Given the description of an element on the screen output the (x, y) to click on. 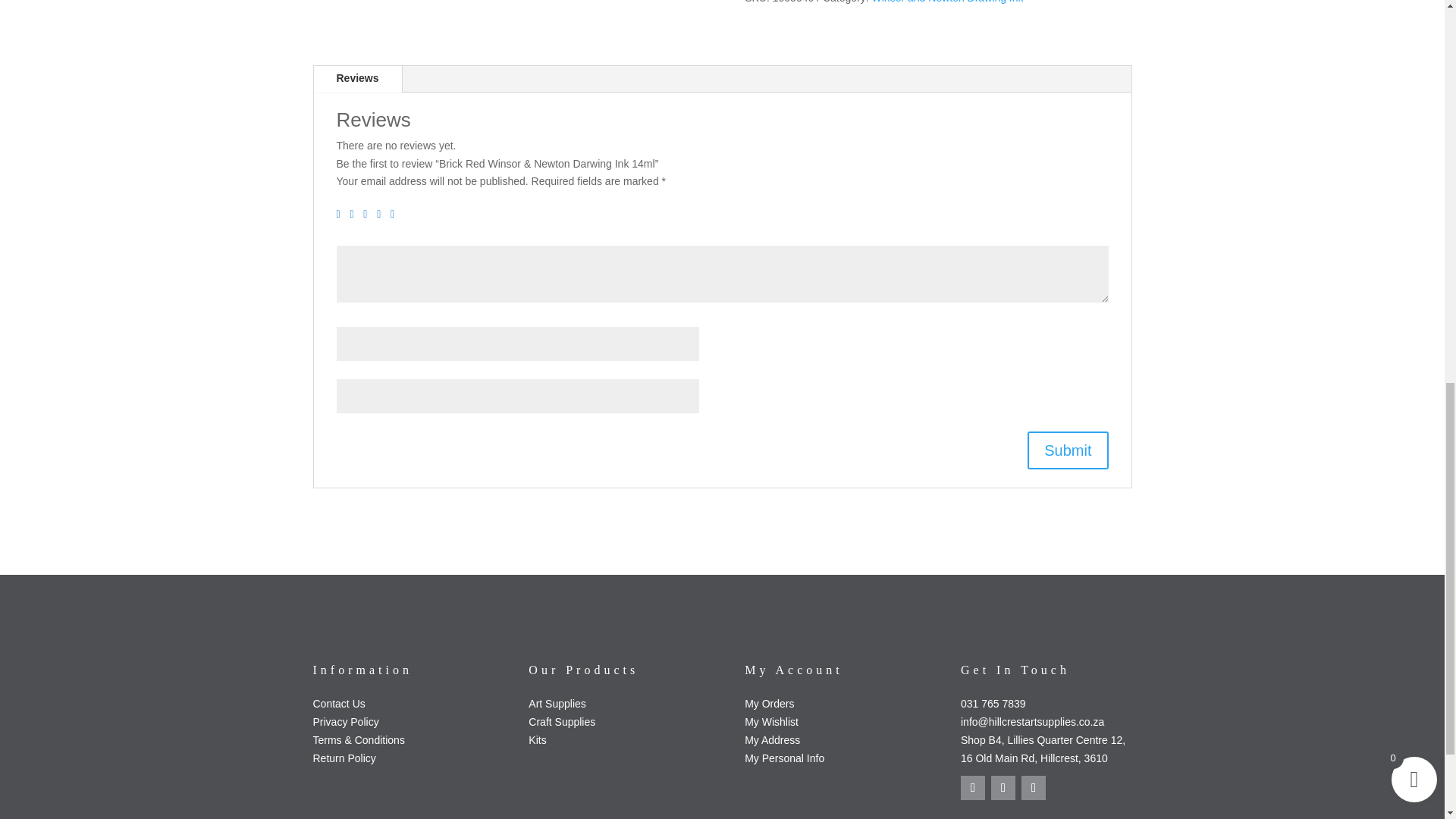
1 (341, 214)
2 (354, 214)
Reviews (357, 79)
Follow on Facebook (972, 787)
Follow on Instagram (1002, 787)
Winsor and Newton Drawing Ink (947, 2)
Follow on Pinterest (1033, 787)
